Given the description of an element on the screen output the (x, y) to click on. 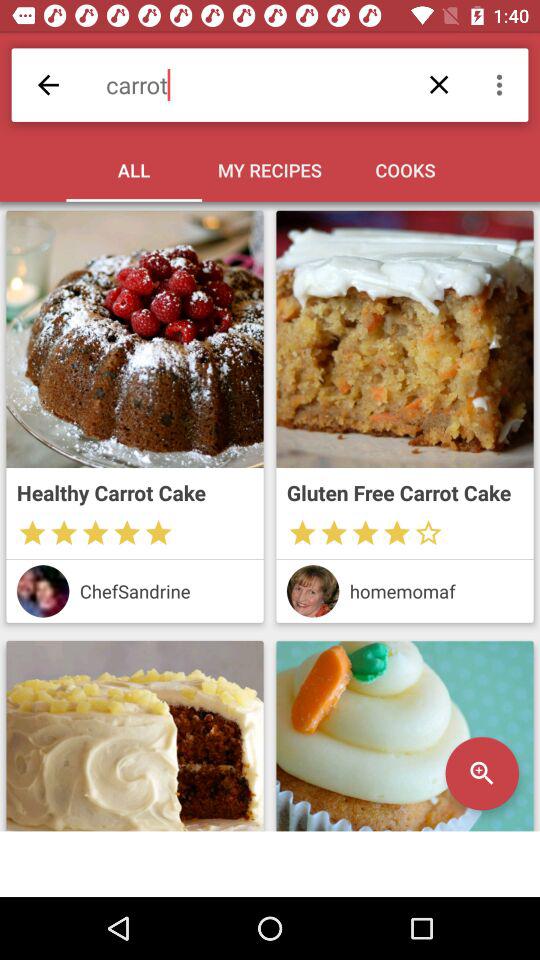
turn off the gluten free carrot item (404, 492)
